Given the description of an element on the screen output the (x, y) to click on. 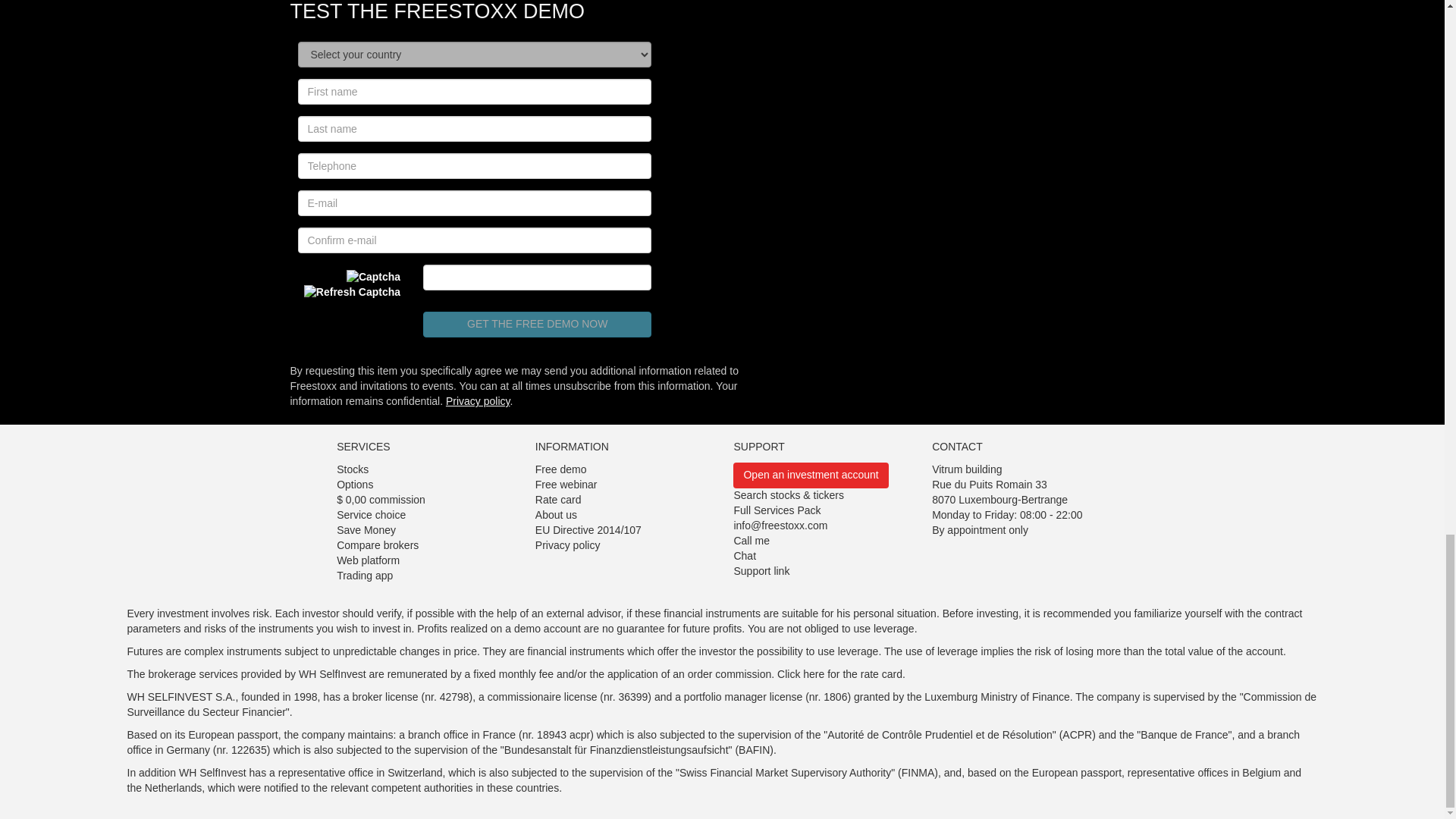
GET THE FREE DEMO NOW (536, 324)
Privacy policy (478, 400)
